Given the description of an element on the screen output the (x, y) to click on. 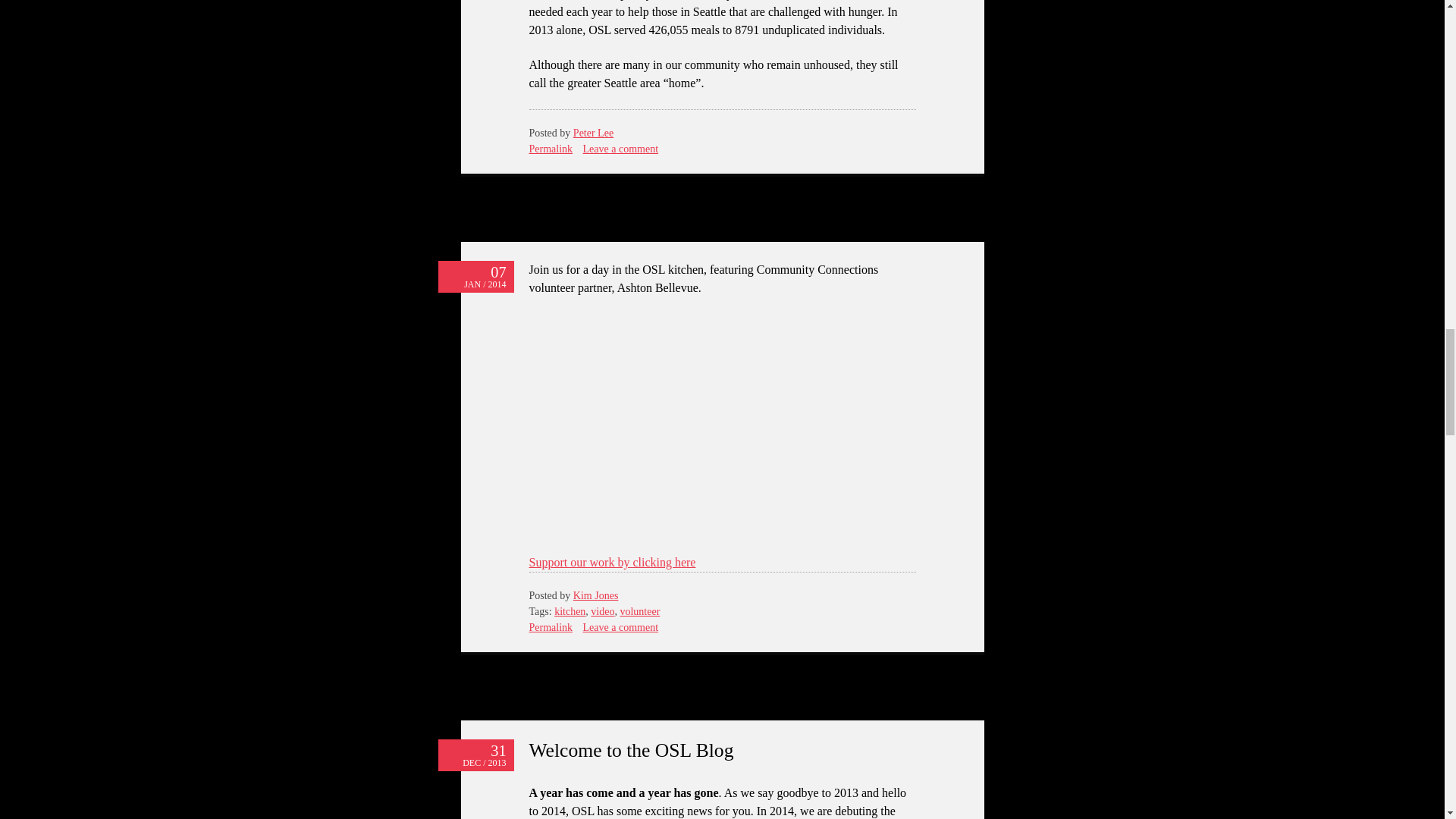
Permalink to Homeless or Unhoused? (551, 148)
View all posts by Kim Jones (595, 595)
Welcome to the OSL Blog (631, 750)
OSL Kitchen (722, 422)
Permalink to Welcome to the OSL Blog (475, 755)
Leave a comment (621, 148)
Permalink to A day in the OSL Kitchen (551, 627)
Support our work by clicking here (612, 562)
Peter Lee (592, 132)
video (602, 611)
Leave a comment (621, 627)
Permalink (551, 627)
kitchen (569, 611)
volunteer (639, 611)
View all posts by Peter Lee (592, 132)
